Given the description of an element on the screen output the (x, y) to click on. 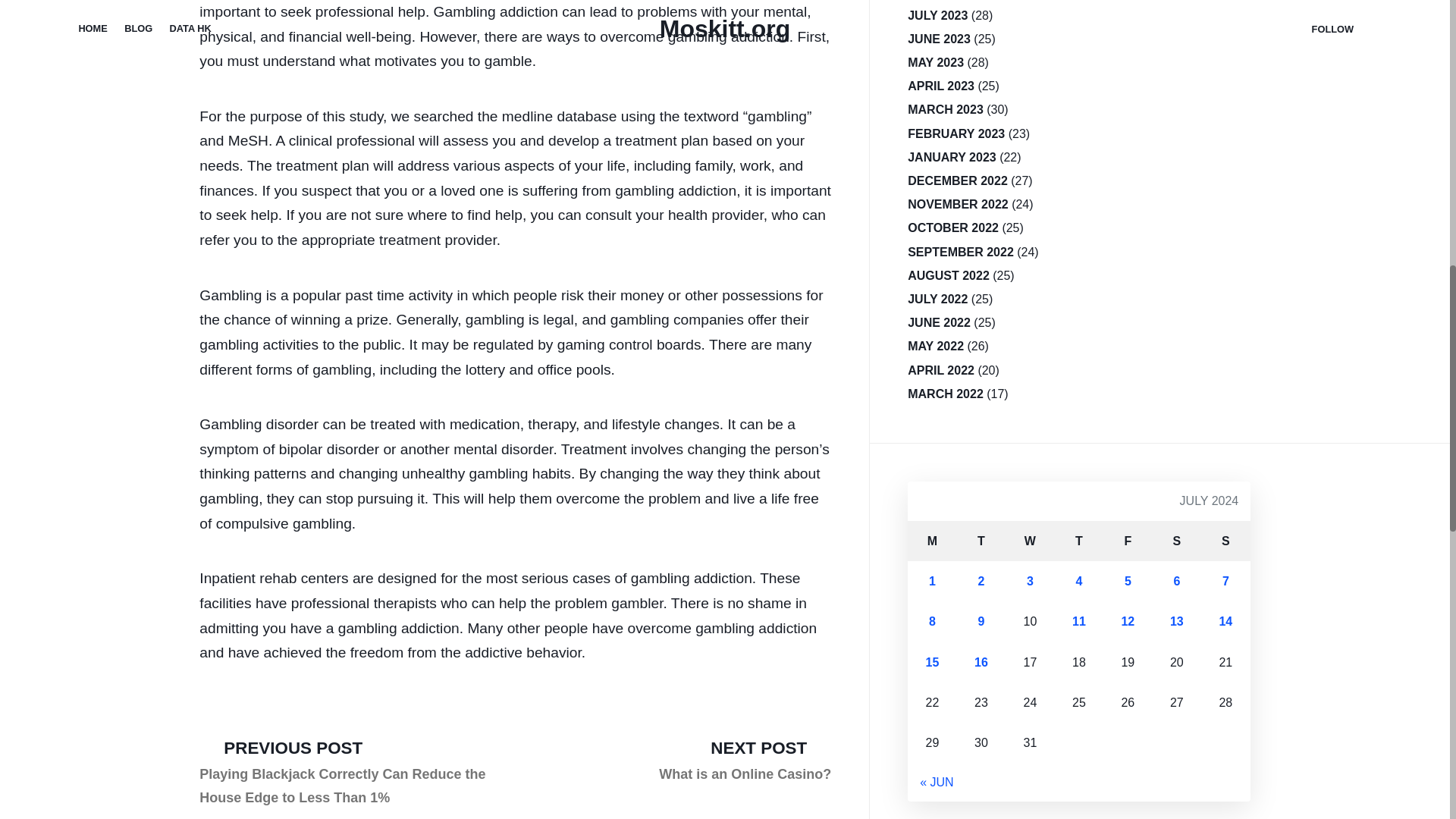
MAY 2023 (935, 62)
AUGUST 2023 (948, 2)
JUNE 2023 (939, 38)
Saturday (1177, 540)
Wednesday (1030, 540)
Monday (931, 540)
Tuesday (745, 759)
Thursday (981, 540)
JULY 2023 (1078, 540)
Sunday (937, 15)
Friday (1225, 540)
